Given the description of an element on the screen output the (x, y) to click on. 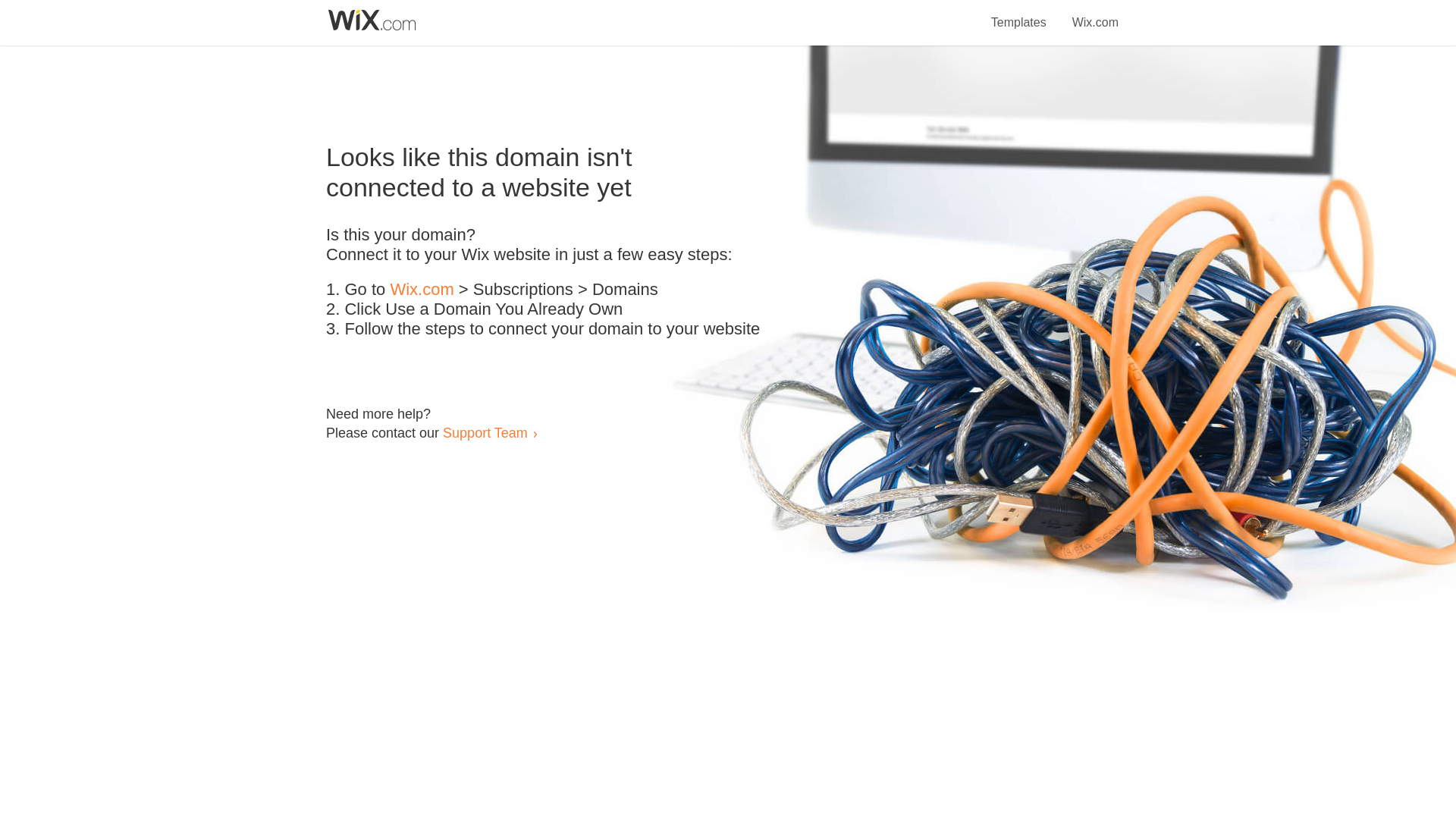
Wix.com (1095, 14)
Support Team (484, 432)
Wix.com (421, 289)
Templates (1018, 14)
